Given the description of an element on the screen output the (x, y) to click on. 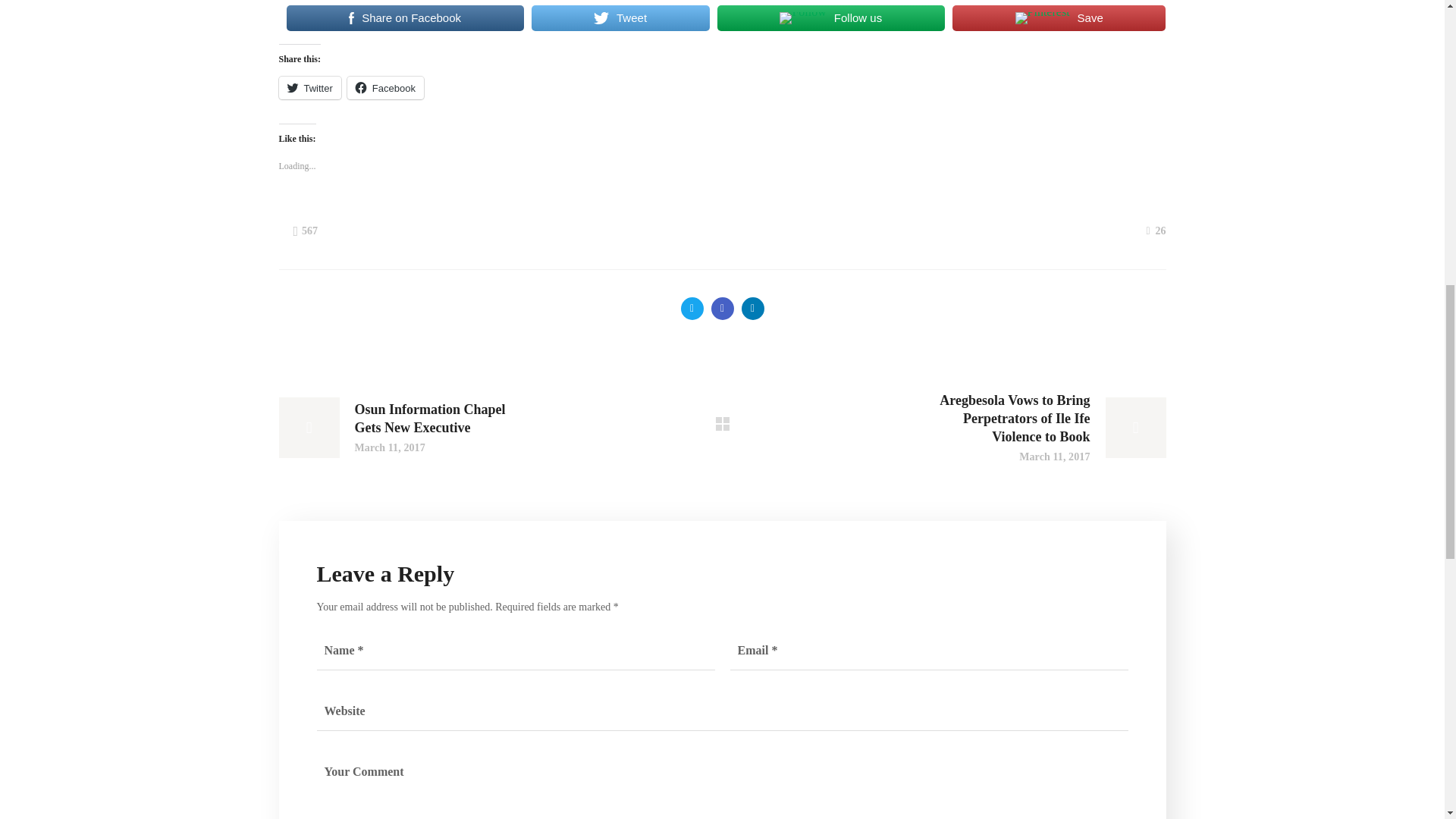
Click to share on Facebook (385, 87)
Like (1155, 230)
Click to share on Twitter (309, 87)
Website (722, 711)
Osun Information Chapel Gets New Executive (396, 427)
